Given the description of an element on the screen output the (x, y) to click on. 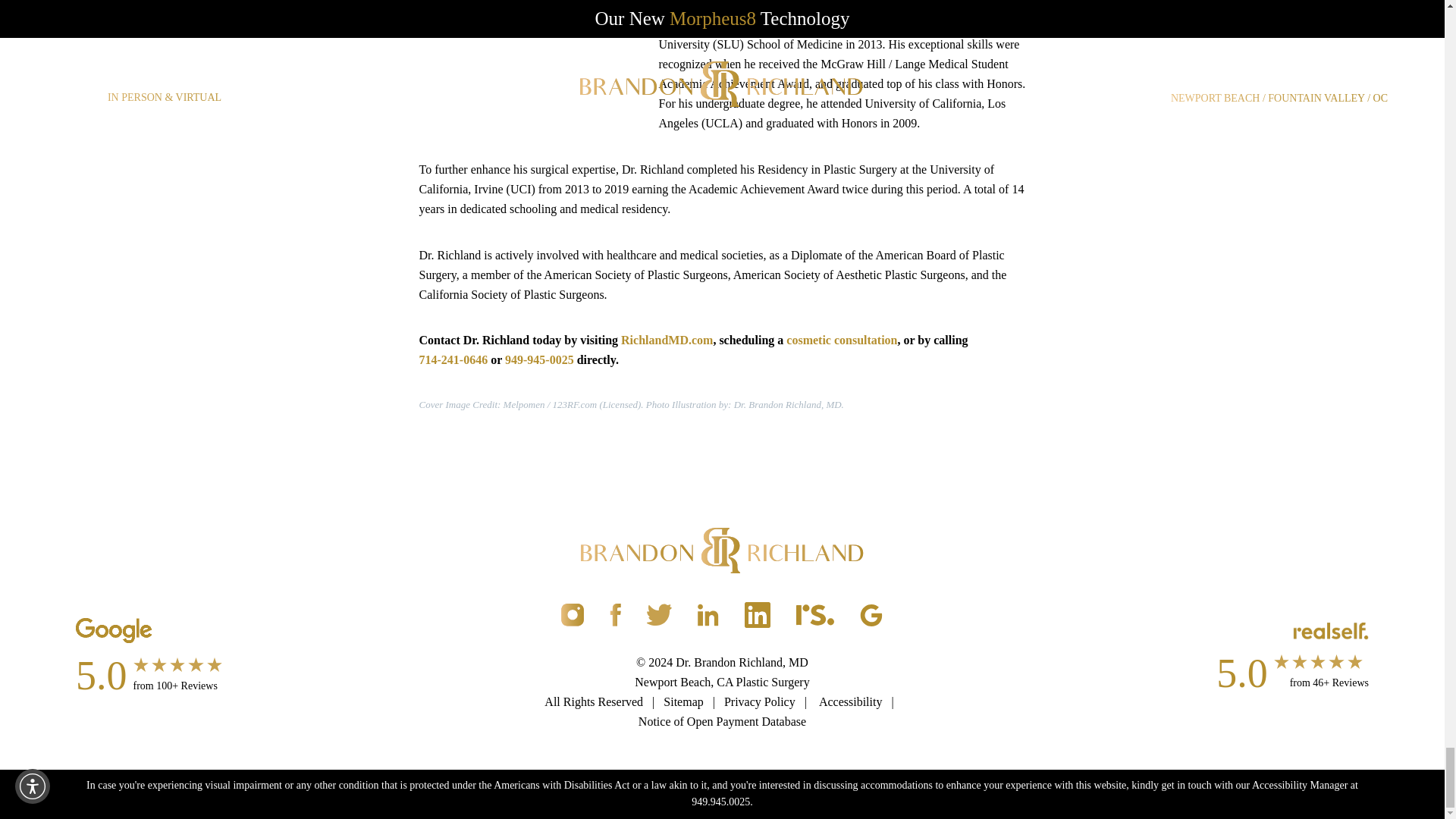
Newport Beach, CA Plastic Surgery (721, 682)
